Given the description of an element on the screen output the (x, y) to click on. 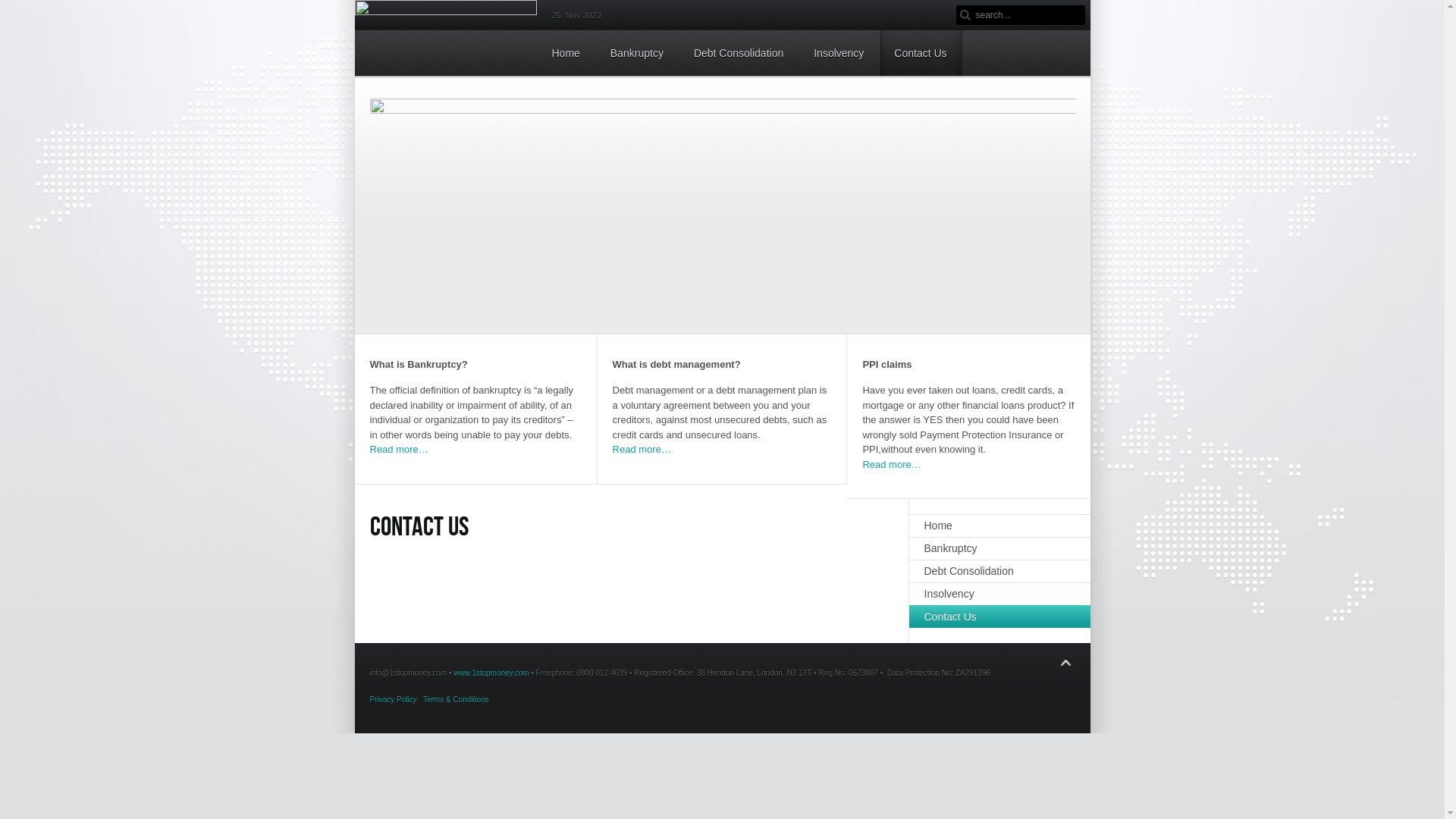
Bankruptcy Element type: text (636, 52)
Search Element type: text (965, 15)
Contact Us Element type: text (998, 616)
Insolvency Element type: text (838, 52)
Home Element type: text (565, 52)
Reset Element type: text (8, 9)
Debt Consolidation Element type: text (998, 570)
Insolvency Element type: text (998, 593)
Bankruptcy Element type: text (998, 547)
Privacy Policy Element type: text (393, 699)
www.1stopmoney.com Element type: text (490, 672)
Home Element type: text (998, 525)
Contact Us Element type: text (919, 52)
Debt Consolidation Element type: text (738, 52)
Terms & Conditions Element type: text (456, 699)
